Given the description of an element on the screen output the (x, y) to click on. 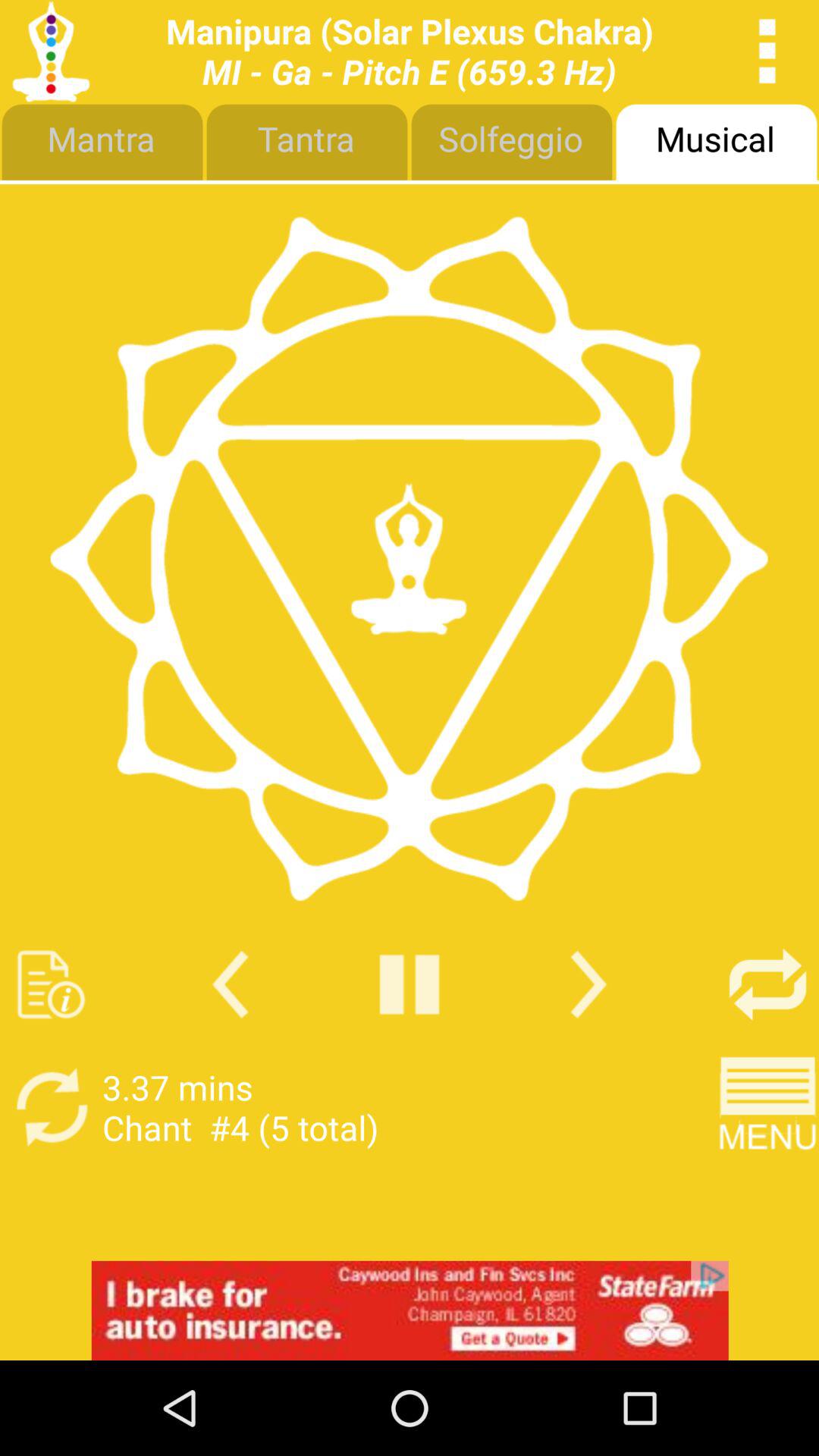
go back (230, 984)
